Given the description of an element on the screen output the (x, y) to click on. 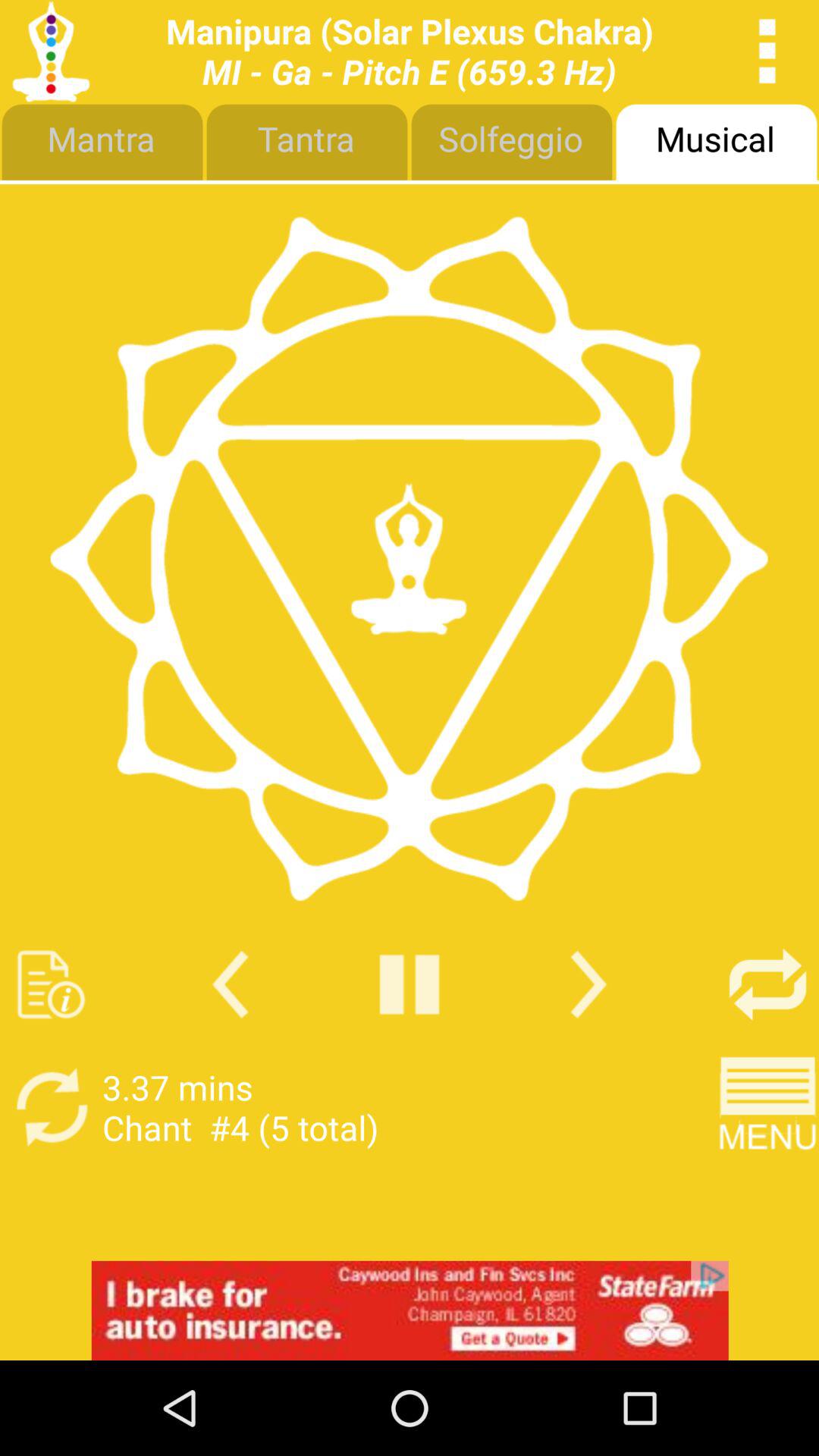
go back (230, 984)
